Given the description of an element on the screen output the (x, y) to click on. 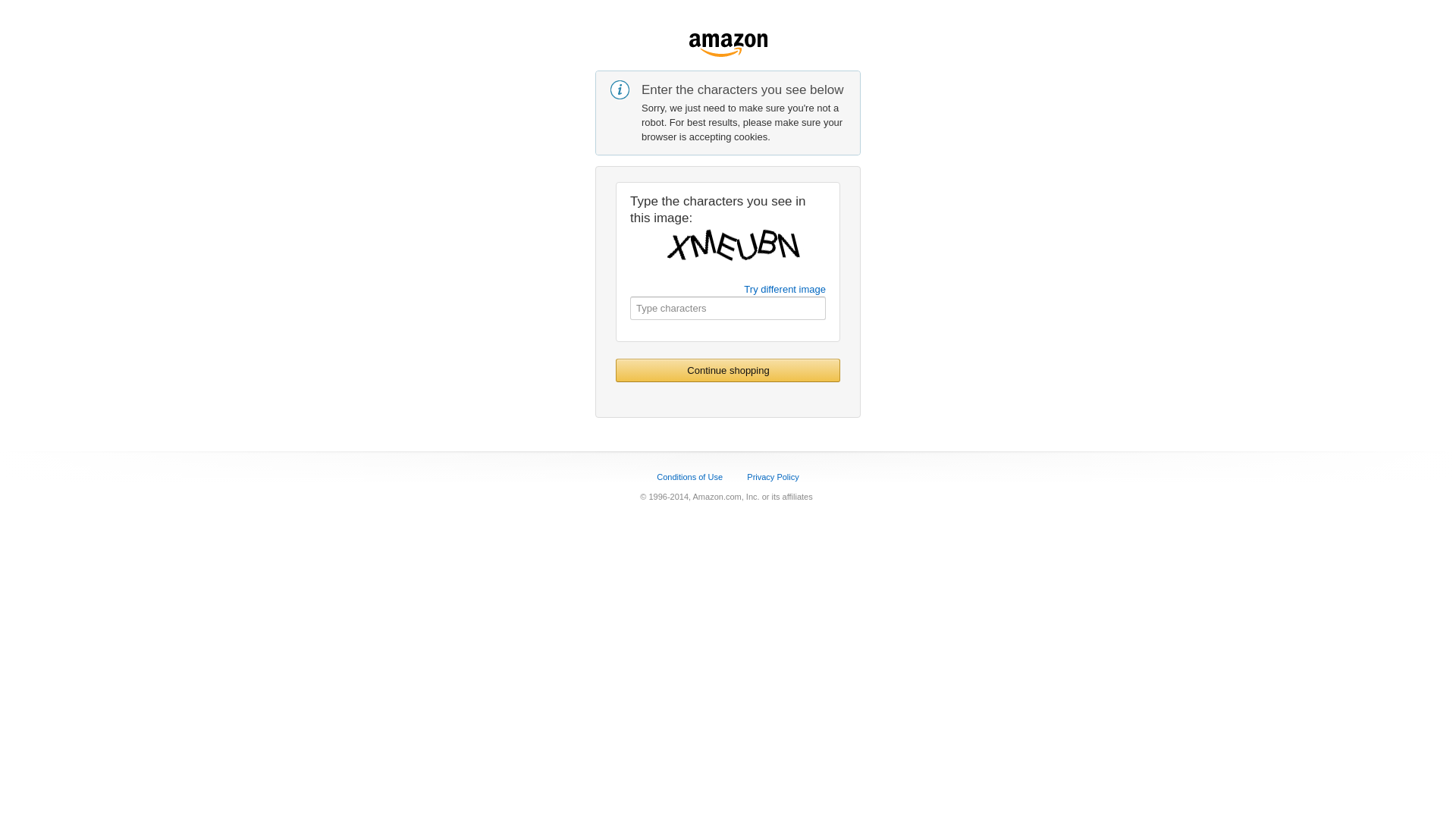
Privacy Policy Element type: text (772, 476)
Conditions of Use Element type: text (689, 476)
Continue shopping Element type: text (727, 370)
Try different image Element type: text (784, 288)
